Given the description of an element on the screen output the (x, y) to click on. 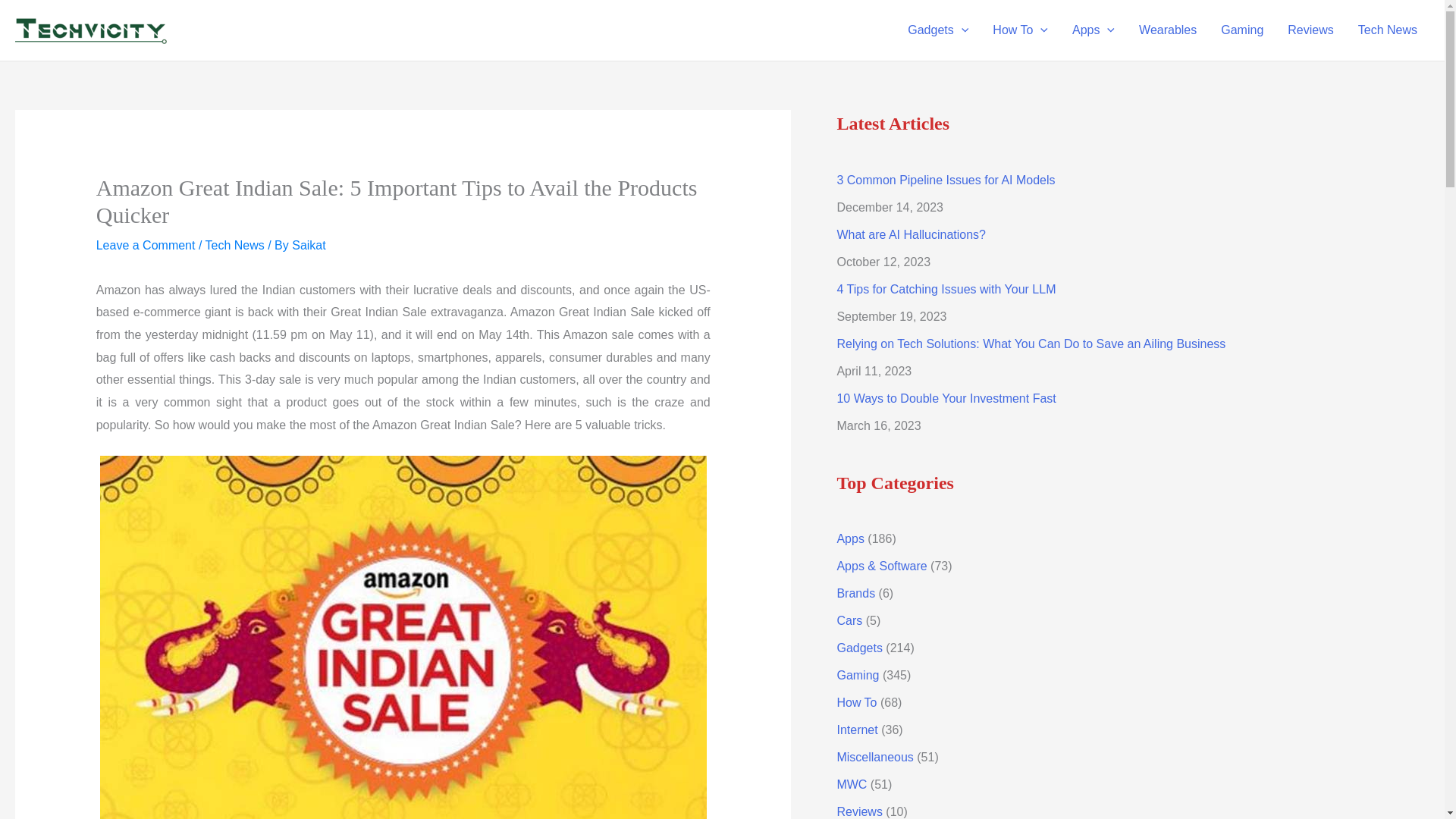
Gadgets (937, 30)
Wearables (1167, 30)
Apps (1092, 30)
Reviews (1310, 30)
View all posts by Saikat (308, 245)
Tech News (1387, 30)
Gaming (1241, 30)
How To (1019, 30)
